Given the description of an element on the screen output the (x, y) to click on. 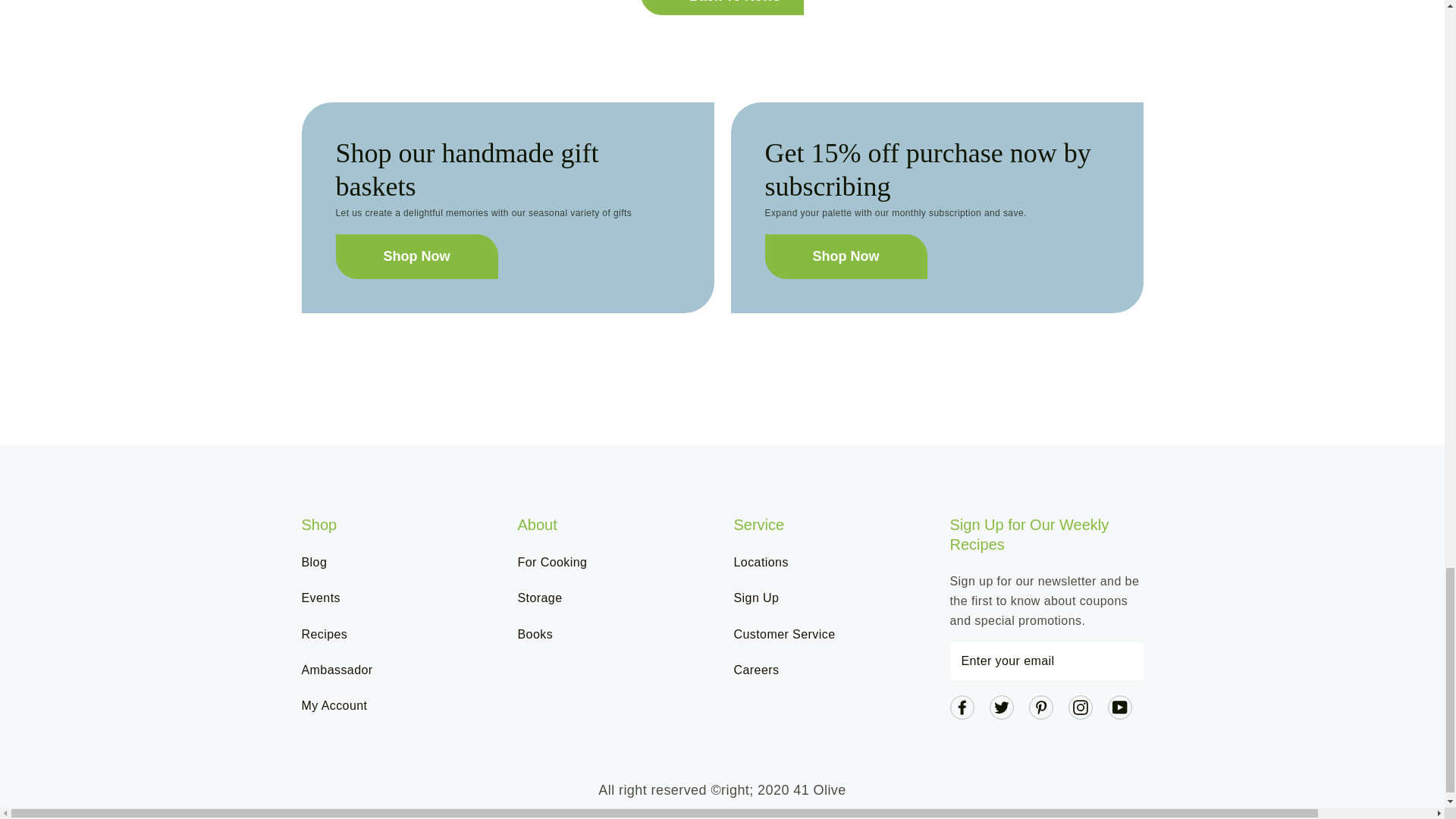
41 Olive on Facebook (961, 706)
41 Olive on Instagram (1080, 706)
41 Olive on Pinterest (1040, 706)
41 Olive on Twitter (1001, 706)
41 Olive on YouTube (1119, 706)
